Given the description of an element on the screen output the (x, y) to click on. 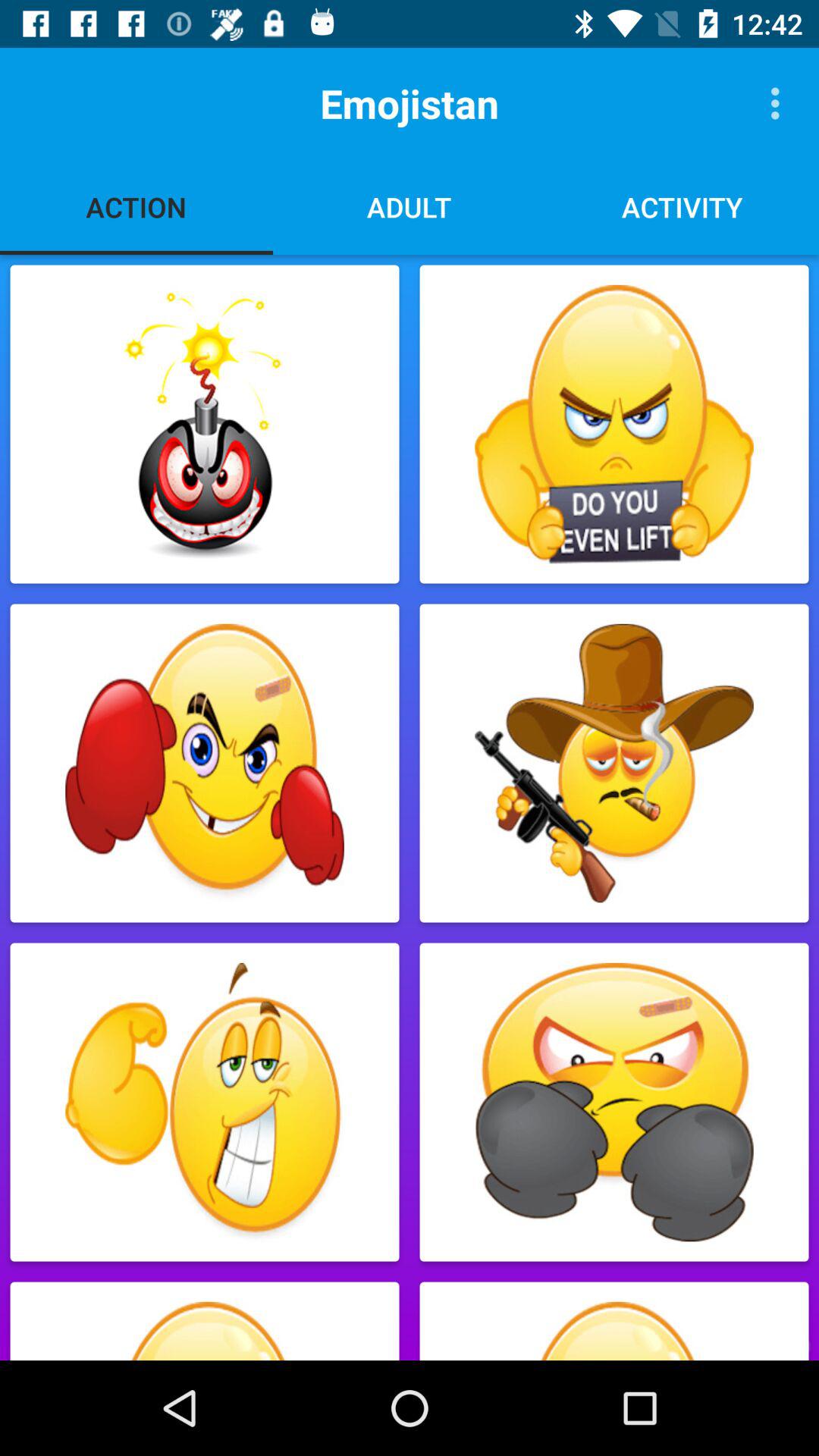
click on the emoji 1st below action (204, 424)
click on the first image in second row (204, 763)
click on the second image in the first column (204, 763)
click on first image in second column from left (614, 423)
click on the 2nd emoji image in 2nd row below activity (614, 763)
